Given the description of an element on the screen output the (x, y) to click on. 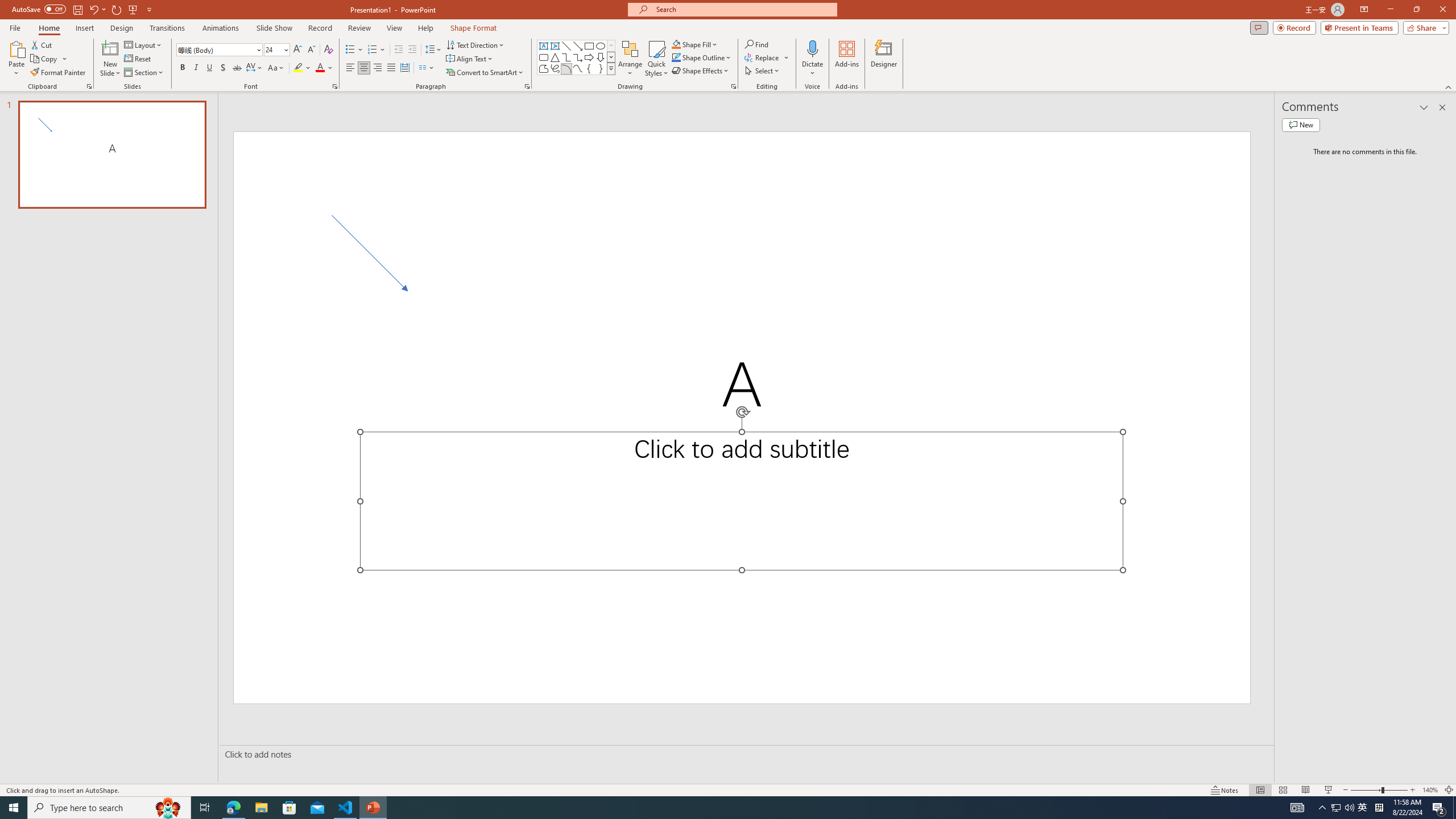
Zoom 140% (1430, 790)
